Given the description of an element on the screen output the (x, y) to click on. 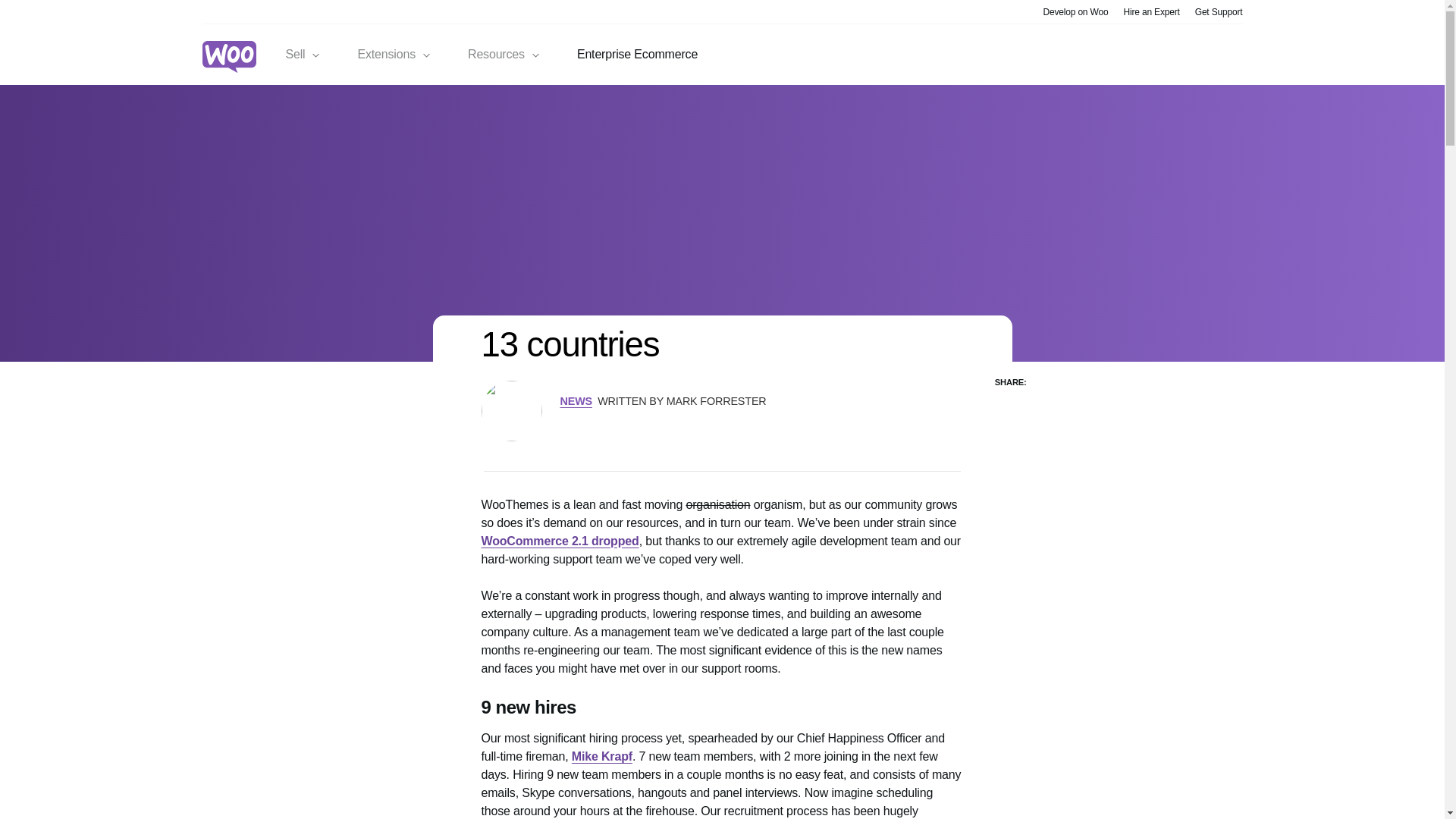
NEWS (575, 400)
Sell (302, 54)
Extensions (394, 54)
WooCommerce 2.1, the Peppy Penguin (559, 540)
Mike Krapf (601, 756)
Get Support (1219, 11)
Resources (504, 54)
WooCommerce 2.1 dropped (559, 540)
Enterprise Ecommerce (637, 54)
Develop on Woo (1075, 11)
Hire an Expert (1150, 11)
Mike Krapf (601, 756)
